Given the description of an element on the screen output the (x, y) to click on. 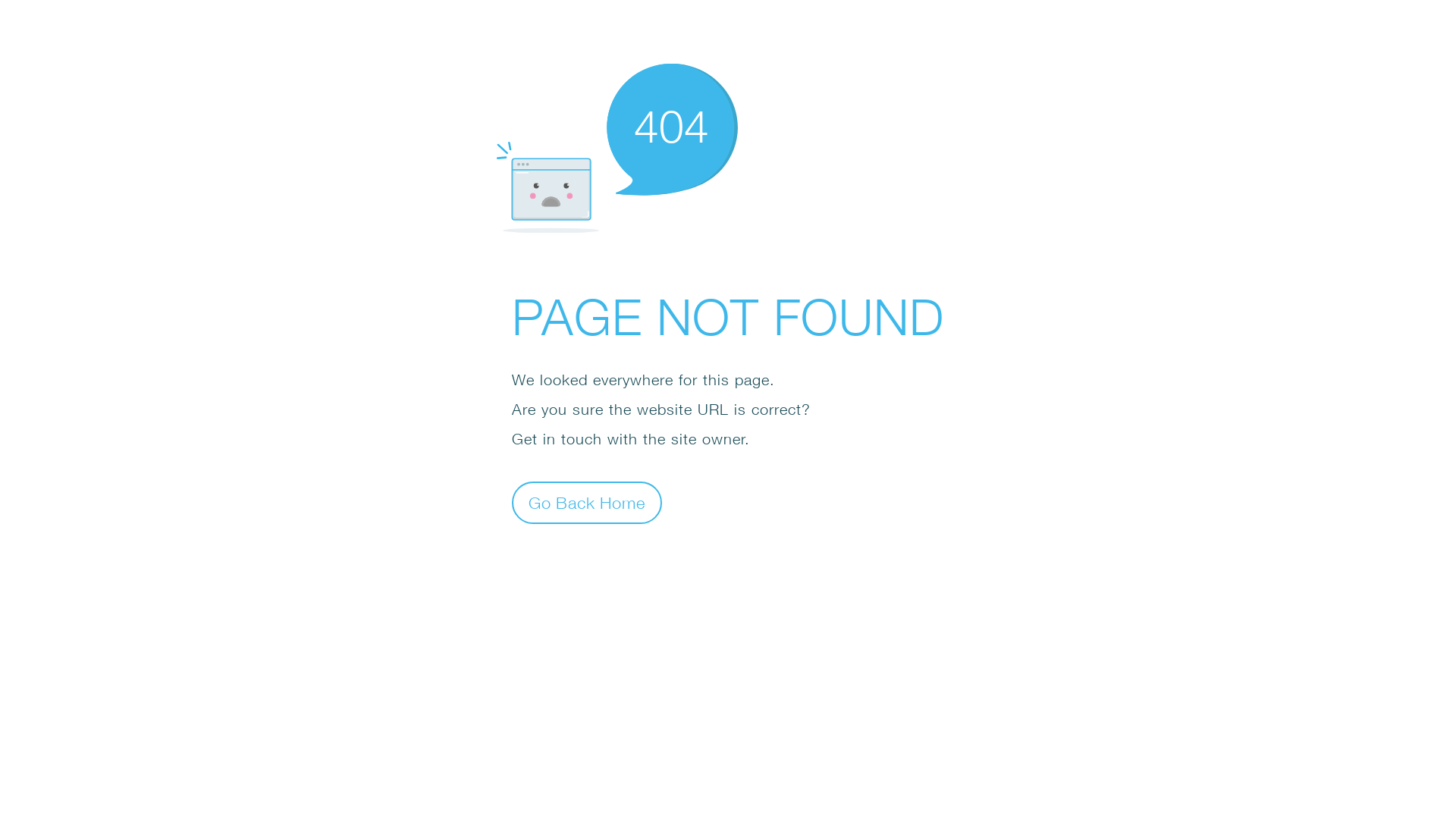
Go Back Home Element type: text (586, 502)
